Given the description of an element on the screen output the (x, y) to click on. 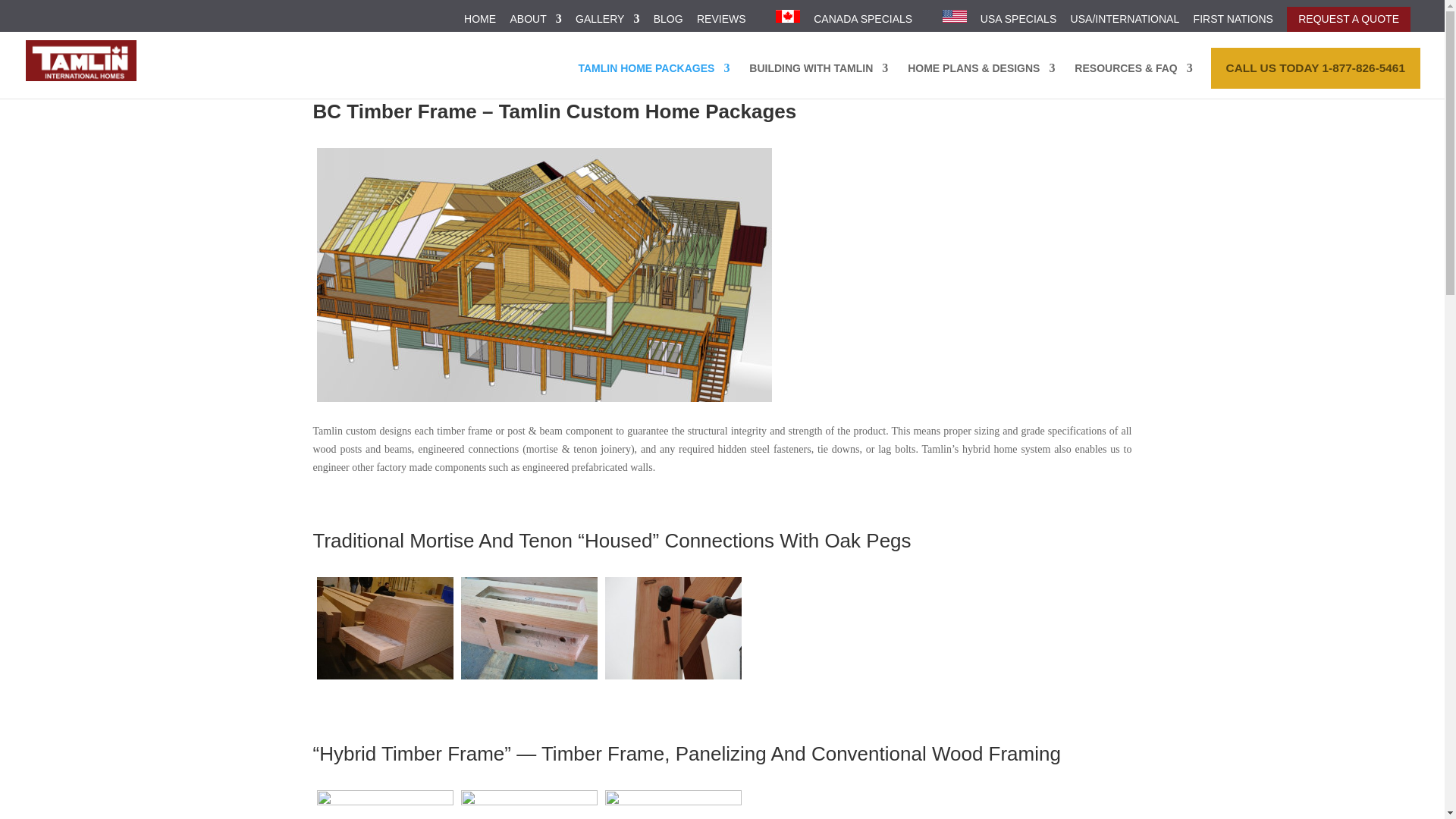
Mortise and tenon- Tamlin Custom Timber Frame Home Packages (384, 628)
REVIEWS (721, 22)
USA SPECIALS (1018, 22)
TAMLIN HOME PACKAGES (653, 80)
Timber frame wood pegs- Tamlin Custom Home Packages (673, 628)
Up to loft- Tamlin Timber Frame Packages (673, 804)
Timber Frame Spec Sketch -Tamlin Custom Home Packages (544, 275)
Mortise and tenon2- Tamlin Custom Timber Frame Home Packages (528, 628)
BLOG (667, 22)
GALLERY (607, 22)
